Given the description of an element on the screen output the (x, y) to click on. 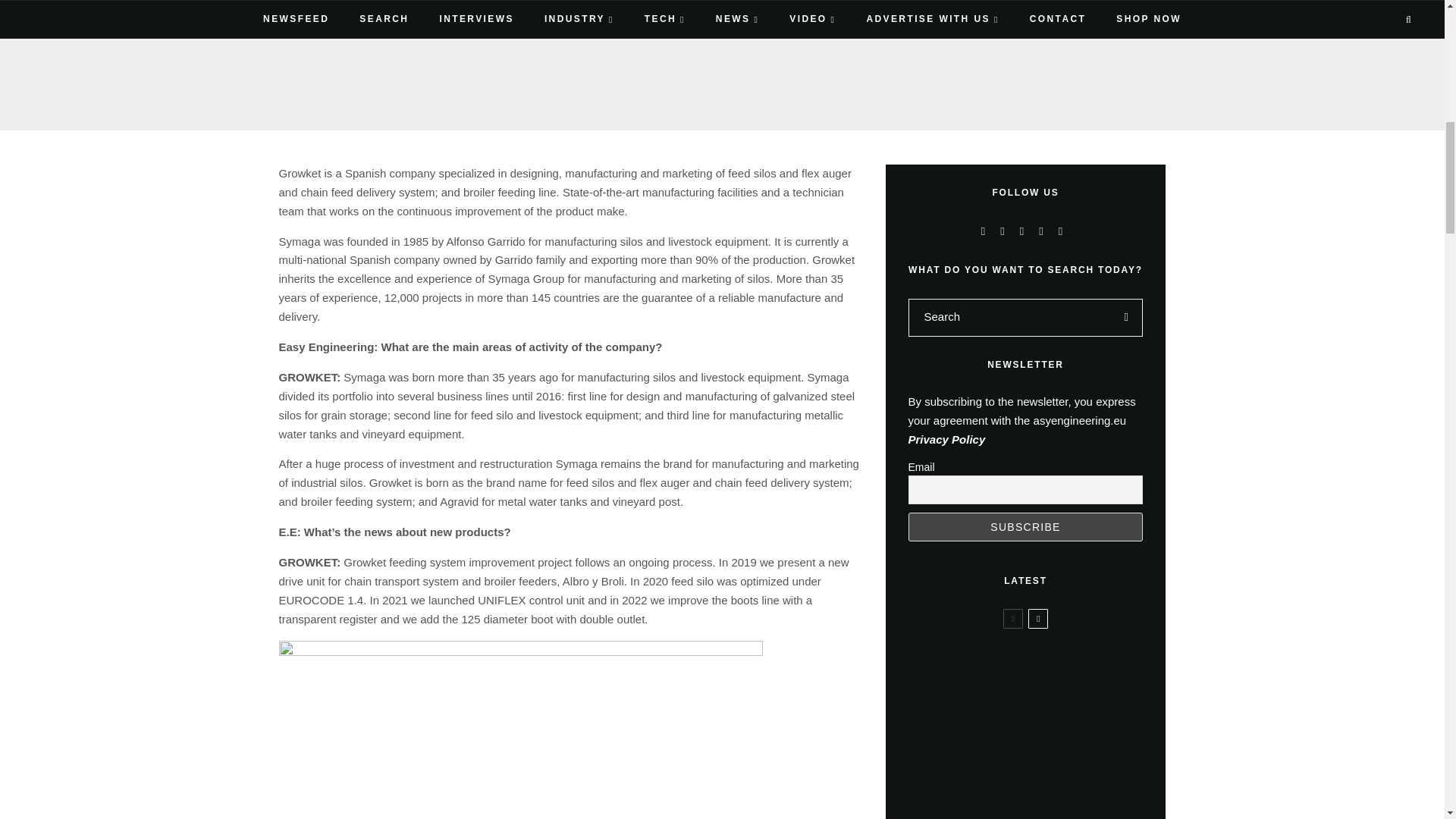
Subscribe (1025, 526)
